Given the description of an element on the screen output the (x, y) to click on. 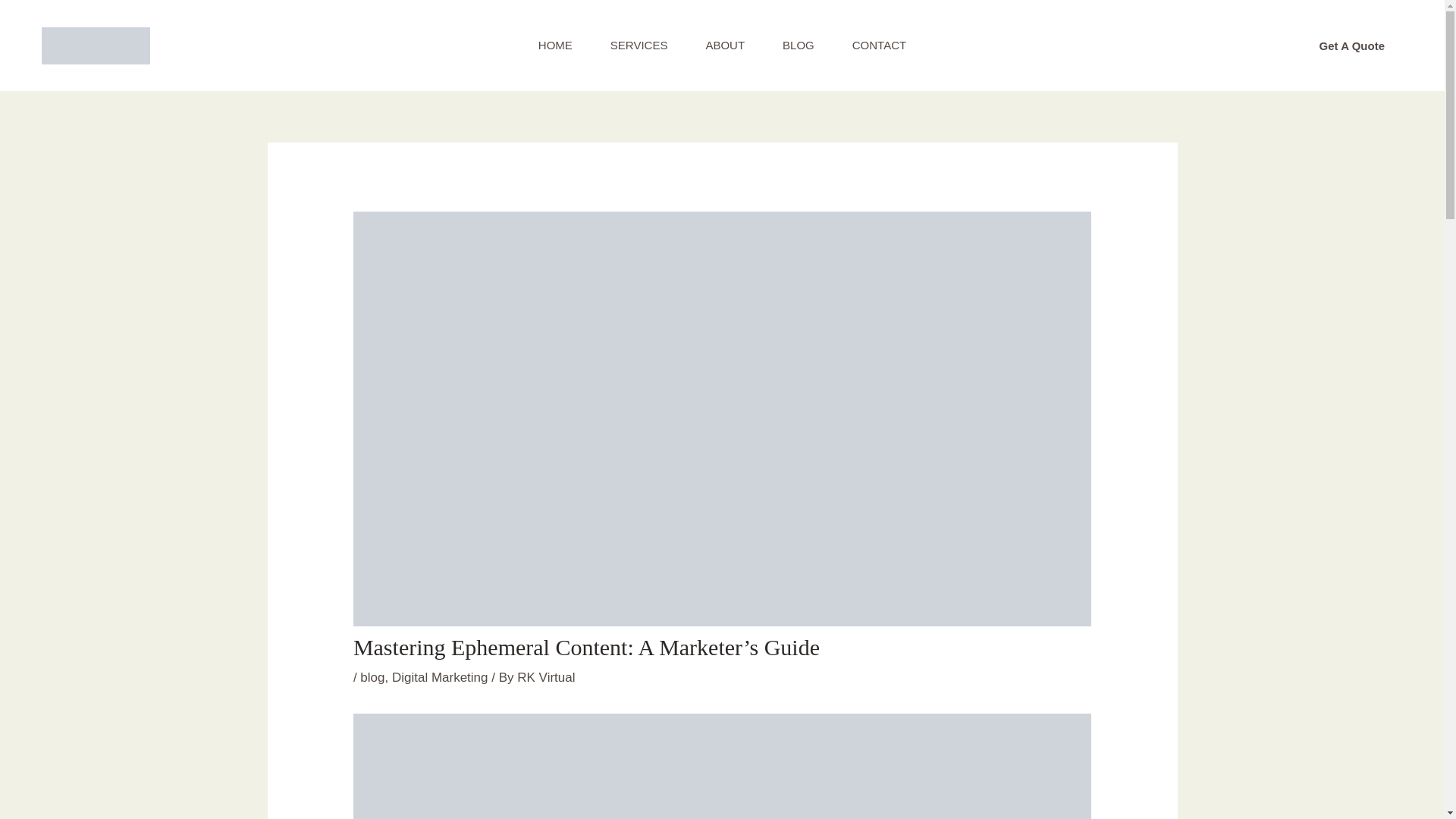
Get A Quote (1352, 45)
SERVICES (639, 45)
Digital Marketing (439, 677)
blog (371, 677)
CONTACT (878, 45)
RK Virtual (545, 677)
View all posts by RK Virtual (545, 677)
